Given the description of an element on the screen output the (x, y) to click on. 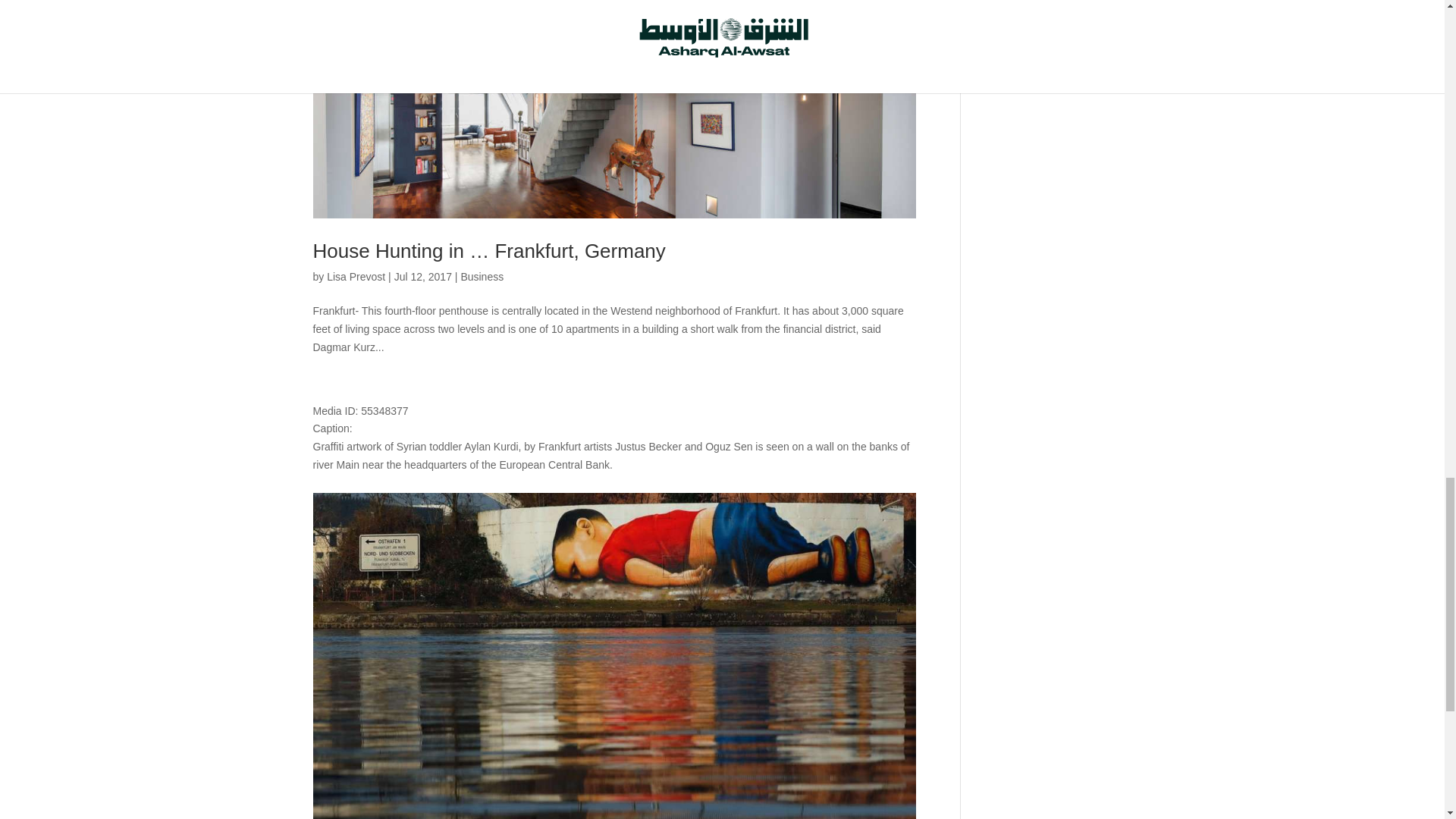
Business (481, 276)
Posts by Lisa Prevost (355, 276)
Lisa Prevost (355, 276)
